Given the description of an element on the screen output the (x, y) to click on. 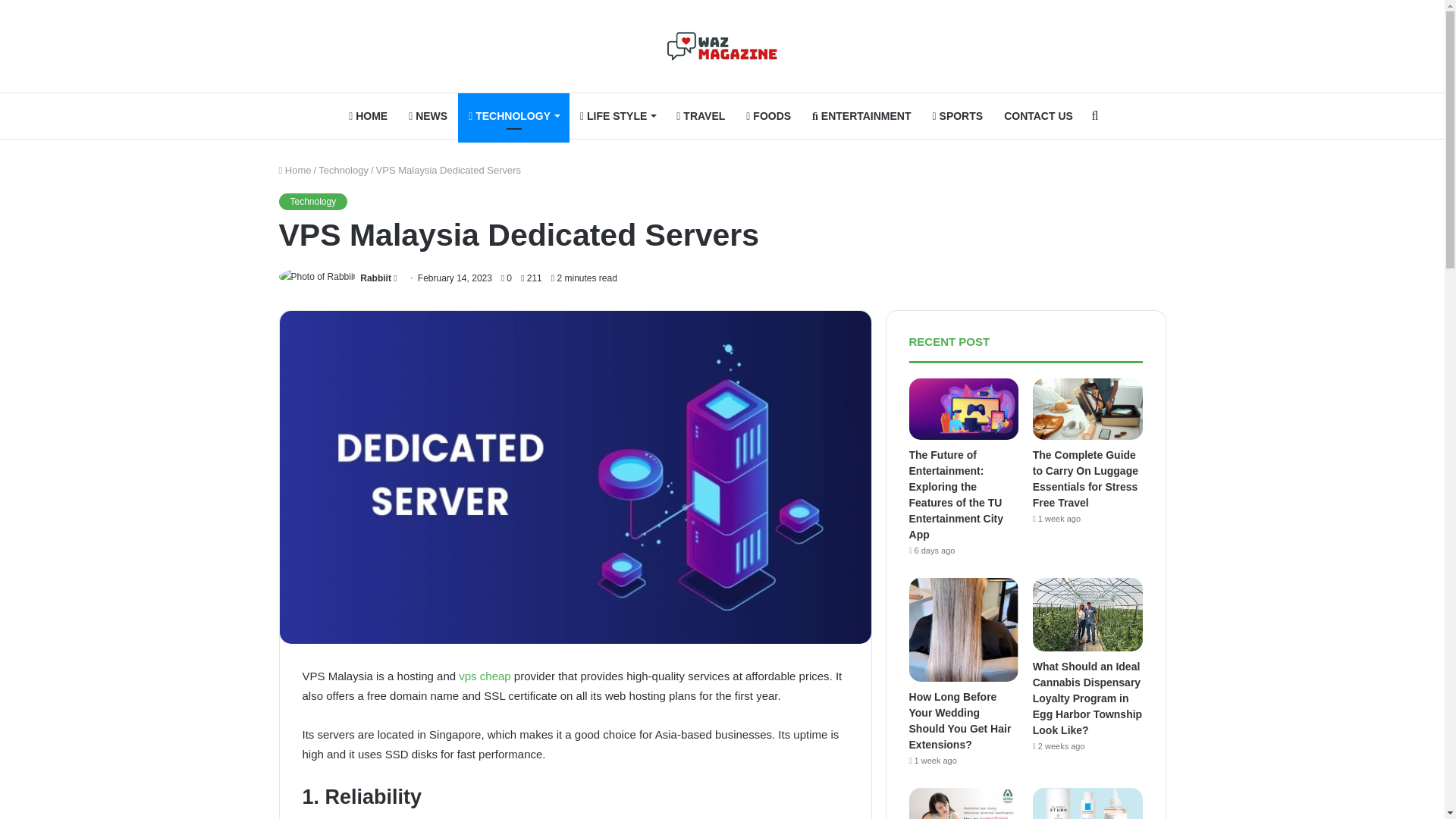
WazMagazine.com (721, 46)
ENTERTAINMENT (861, 115)
NEWS (427, 115)
TRAVEL (700, 115)
CONTACT US (1037, 115)
vps cheap (484, 675)
Technology (313, 201)
Home (295, 170)
TECHNOLOGY (513, 115)
SPORTS (957, 115)
